Given the description of an element on the screen output the (x, y) to click on. 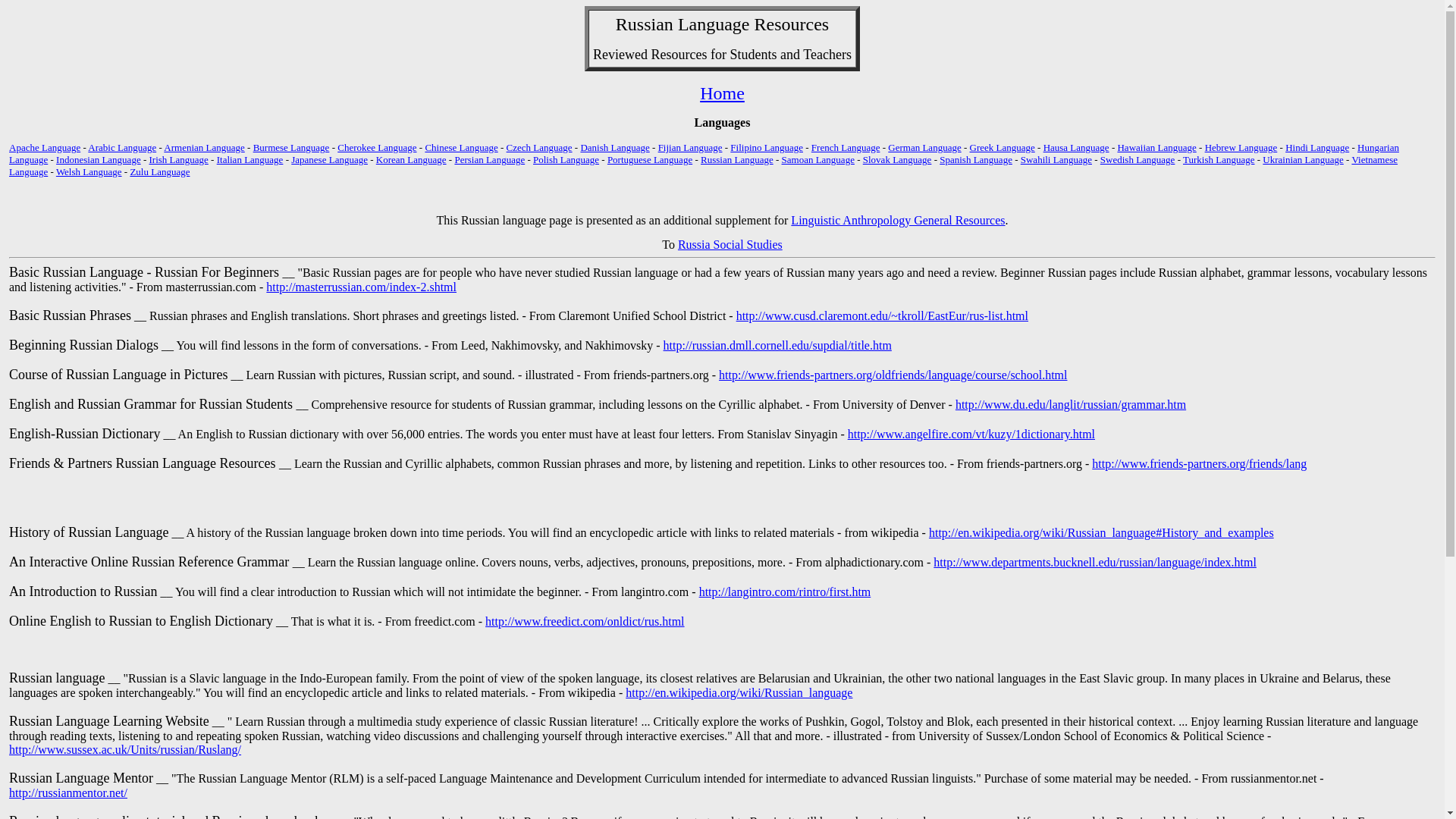
Filipino Language (766, 147)
Slovak Language (897, 159)
Welsh Language (89, 171)
Swedish Language (1137, 159)
Indonesian Language (98, 159)
Japanese Language (329, 159)
Polish Language (565, 159)
Swahili Language (1056, 159)
Spanish Language (975, 159)
Hawaiian Language (1155, 147)
